Given the description of an element on the screen output the (x, y) to click on. 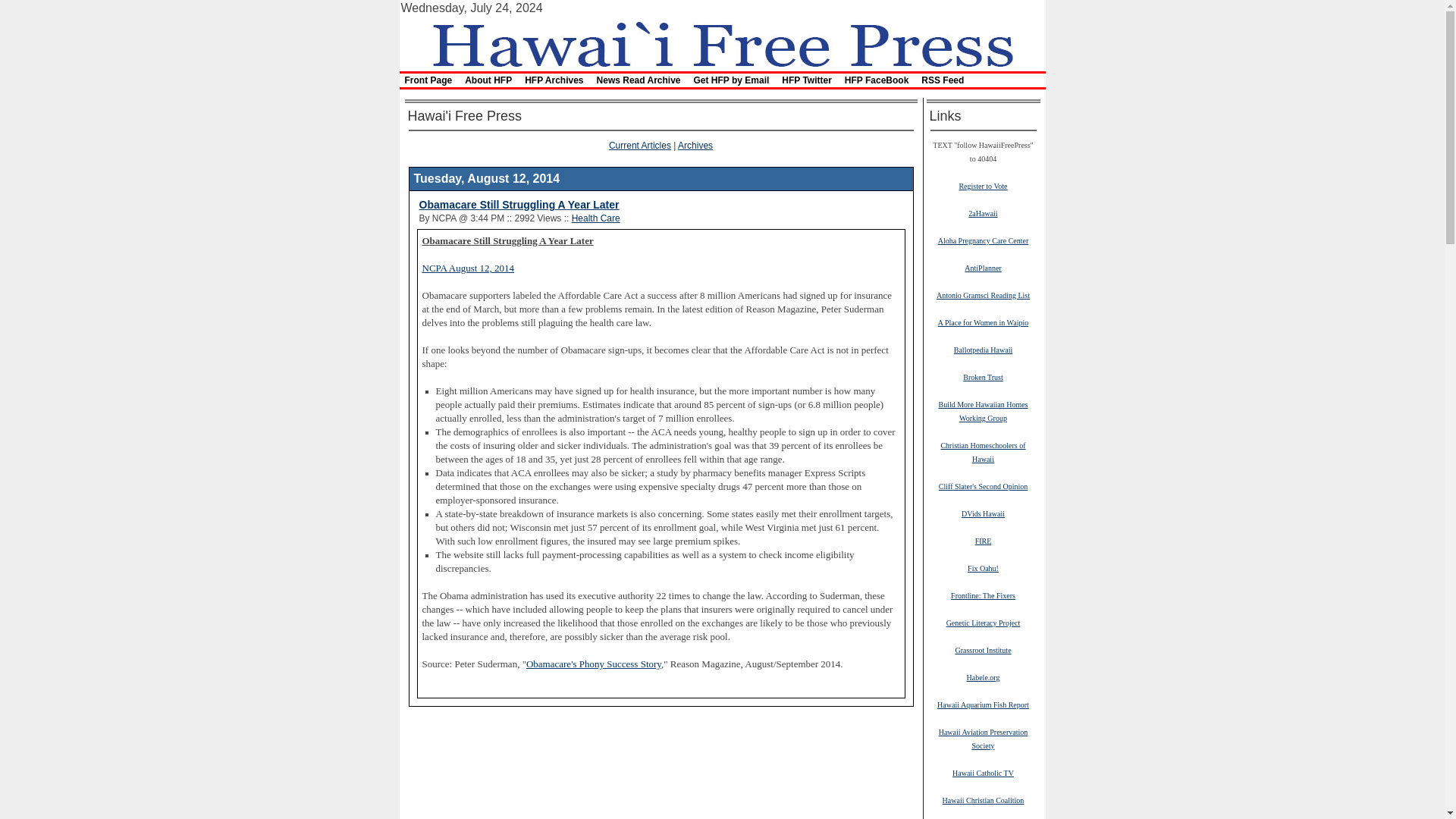
2aHawaii (982, 213)
Register to Vote (982, 185)
Archives (695, 145)
Ballotpedia Hawaii (982, 348)
Fix Oahu! (983, 567)
Broken Trust (982, 376)
Genetic Literacy Project (983, 622)
AntiPlanner (982, 267)
FIRE (983, 540)
Build More Hawaiian Homes Working Group (982, 410)
Hawaii Christian Coalition (983, 799)
Aloha Pregnancy Care Center (983, 240)
Hawaii Catholic TV (982, 772)
Cliff Slater's Second Opinion (983, 485)
Hawaii Aquarium Fish Report (983, 704)
